Given the description of an element on the screen output the (x, y) to click on. 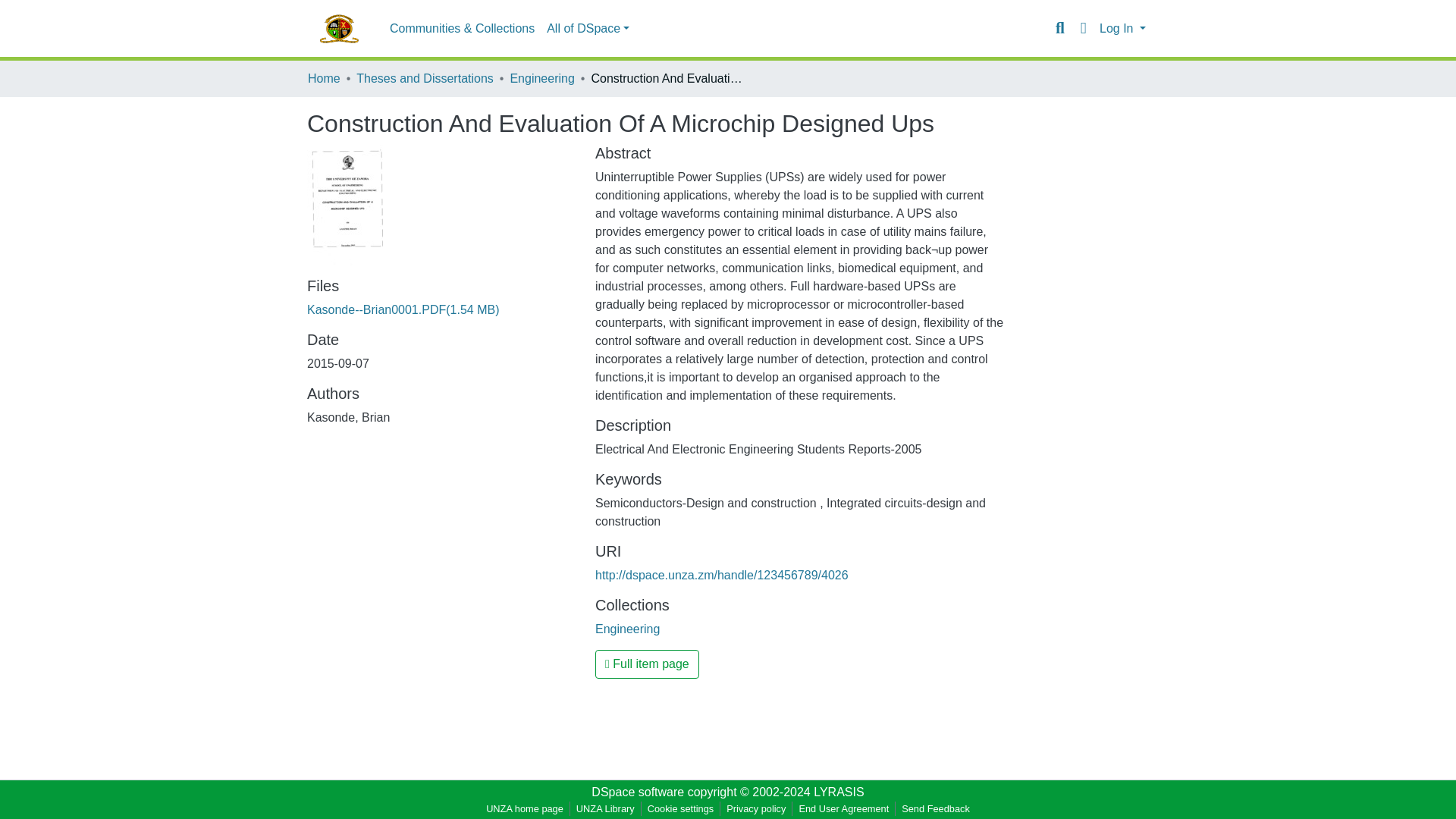
Send Feedback (935, 808)
Language switch (1083, 28)
Engineering (627, 628)
UNZA home page (524, 808)
Theses and Dissertations (424, 78)
Full item page (646, 664)
Privacy policy (756, 808)
DSpace software (637, 791)
Log In (1122, 28)
Home (323, 78)
